Given the description of an element on the screen output the (x, y) to click on. 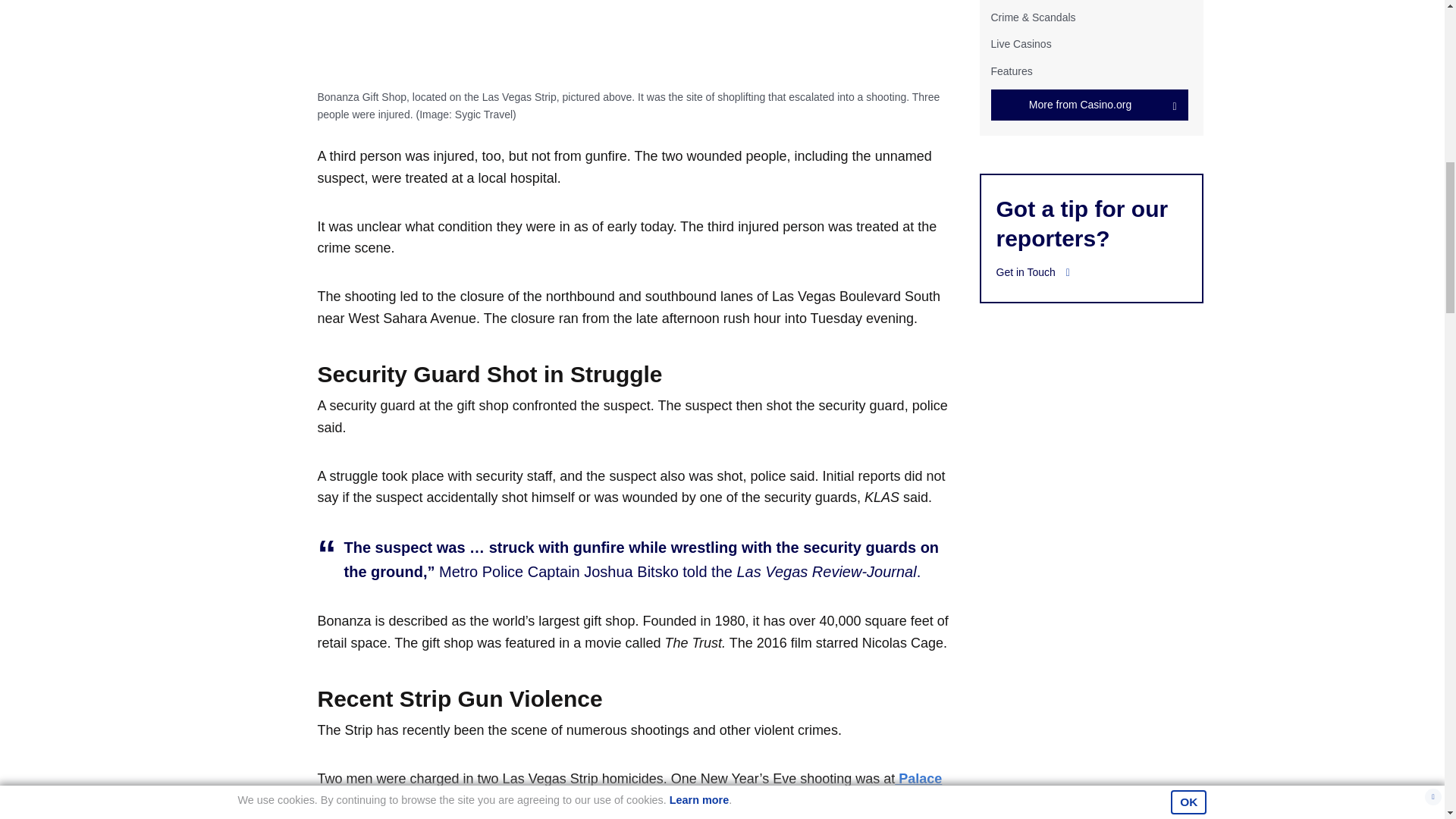
Features (1011, 70)
Live Casinos (1020, 43)
Palace Station Casino (629, 789)
